Given the description of an element on the screen output the (x, y) to click on. 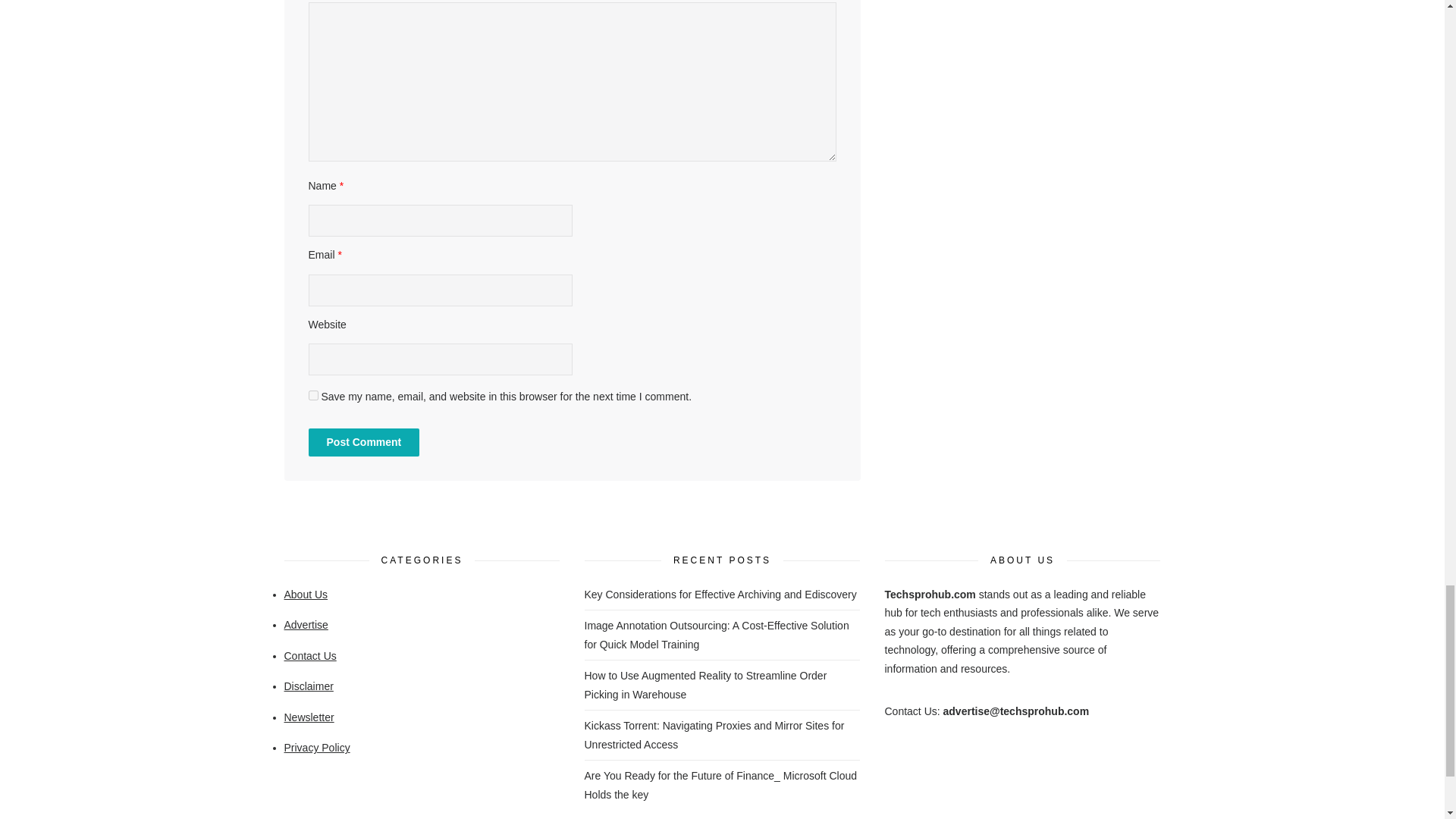
Post Comment (363, 442)
yes (312, 395)
